Given the description of an element on the screen output the (x, y) to click on. 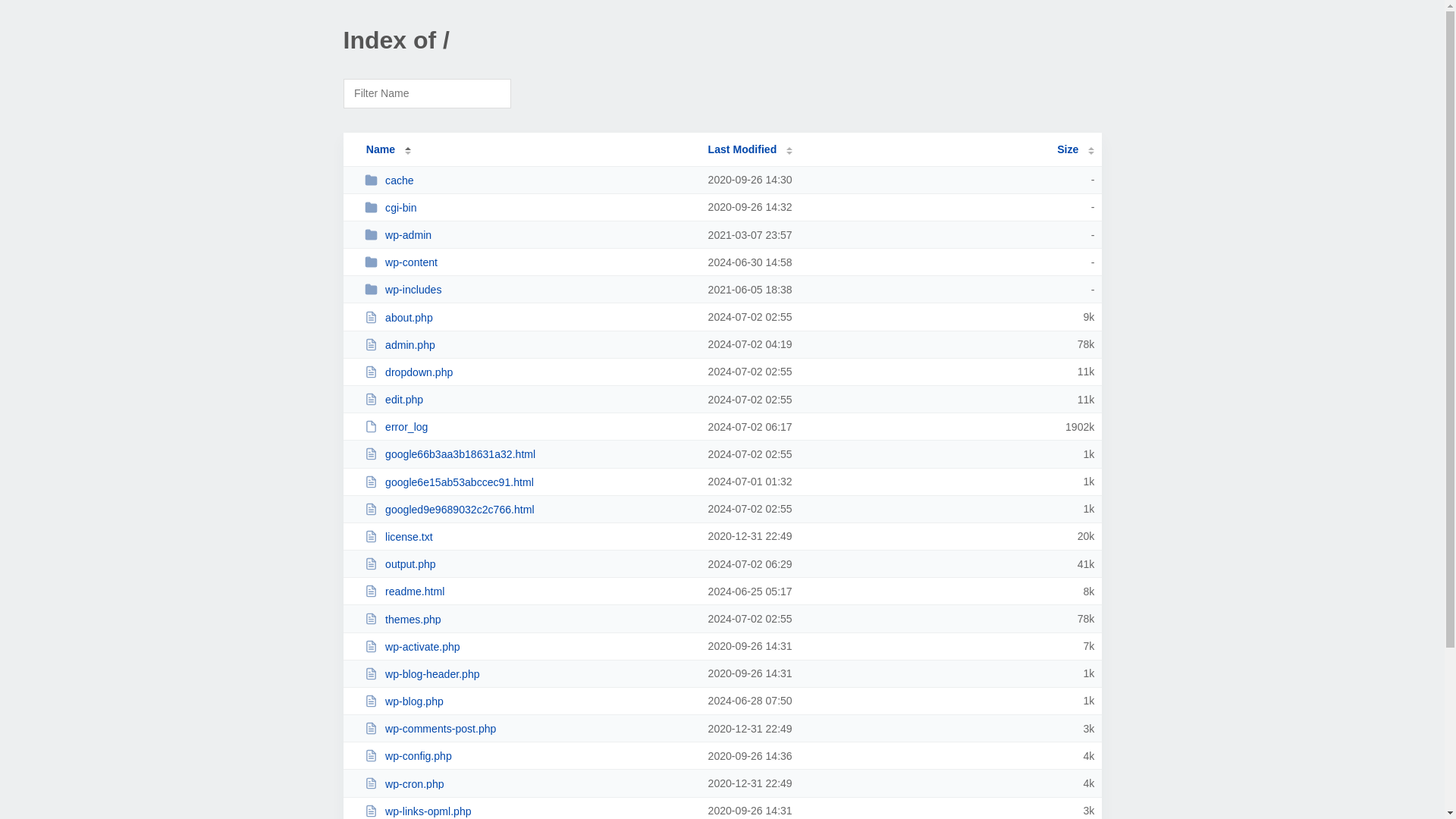
wp-comments-post.php (529, 727)
Last Modified (750, 149)
google66b3aa3b18631a32.html (529, 453)
wp-content (529, 261)
googled9e9689032c2c766.html (529, 508)
about.php (529, 317)
wp-admin (529, 234)
edit.php (529, 399)
wp-blog.php (529, 700)
wp-includes (529, 288)
admin.php (529, 344)
Size (1075, 149)
wp-links-opml.php (529, 810)
google6e15ab53abccec91.html (529, 481)
Name (380, 149)
